Given the description of an element on the screen output the (x, y) to click on. 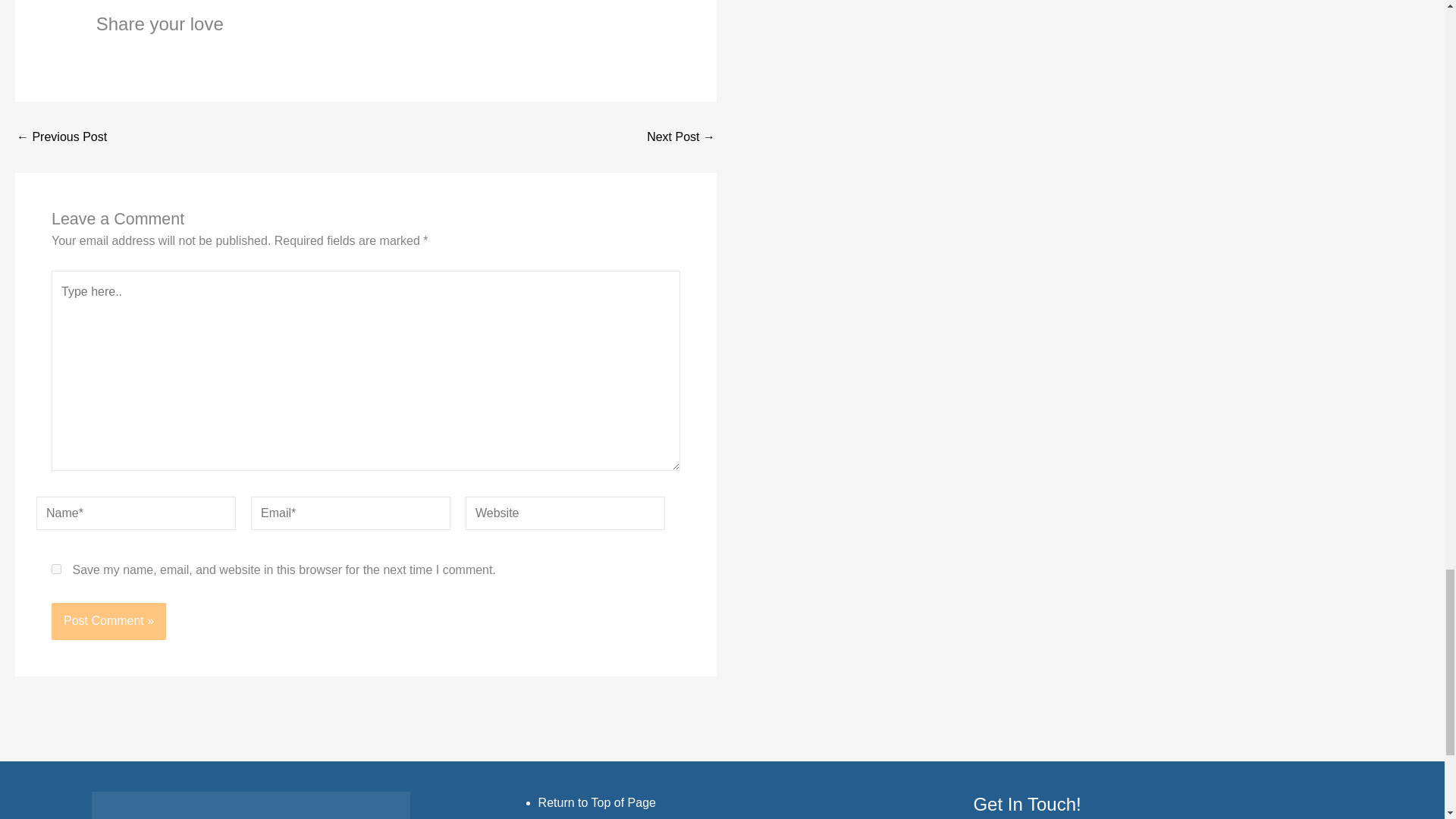
SALLY KIRKMAN ASTROLOGER WHITE (250, 805)
Pisces January 2017 (61, 137)
Goodbye 2016, Hello 2017 (680, 137)
yes (55, 569)
